Given the description of an element on the screen output the (x, y) to click on. 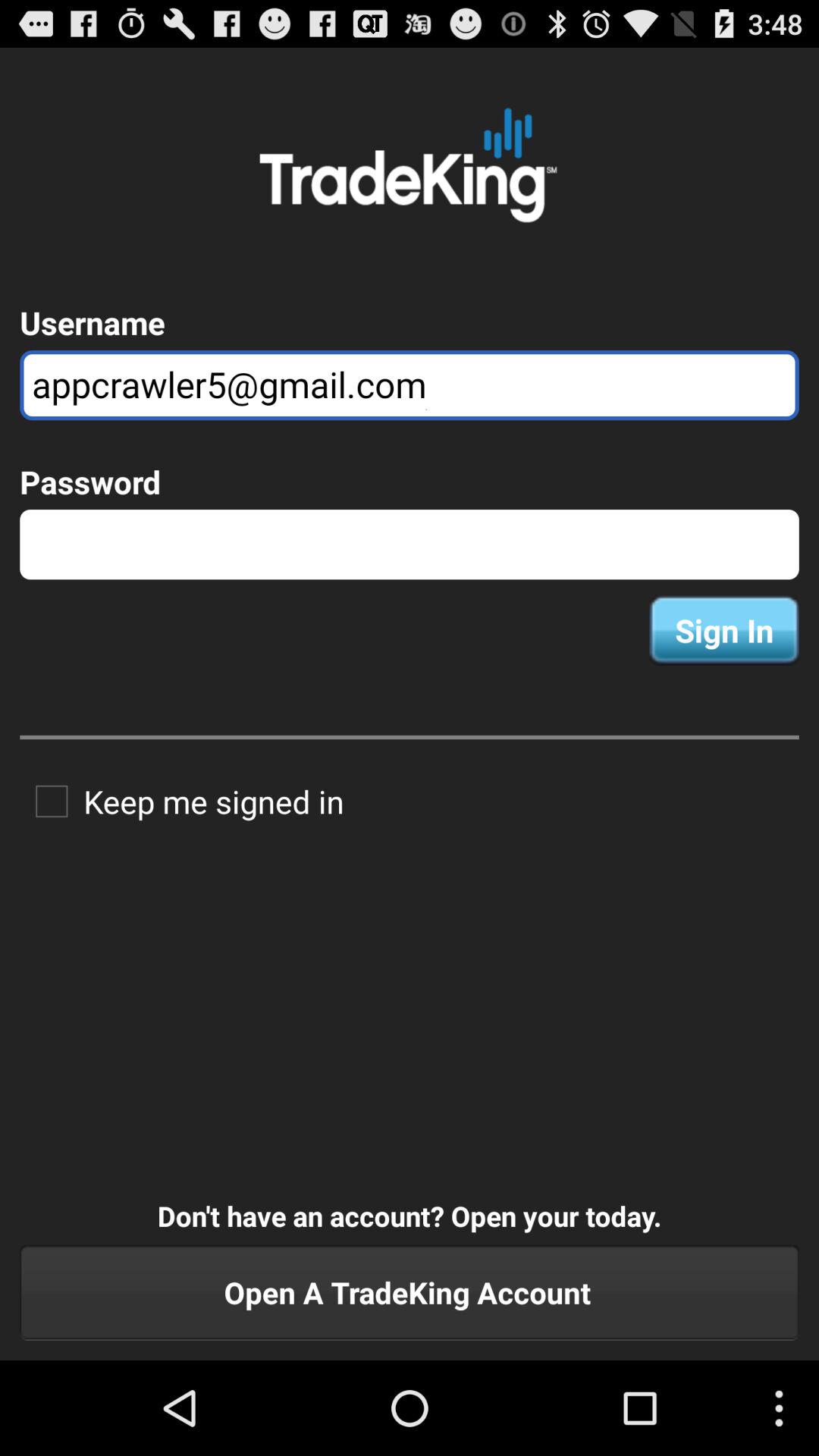
choose icon below don t have (409, 1292)
